Given the description of an element on the screen output the (x, y) to click on. 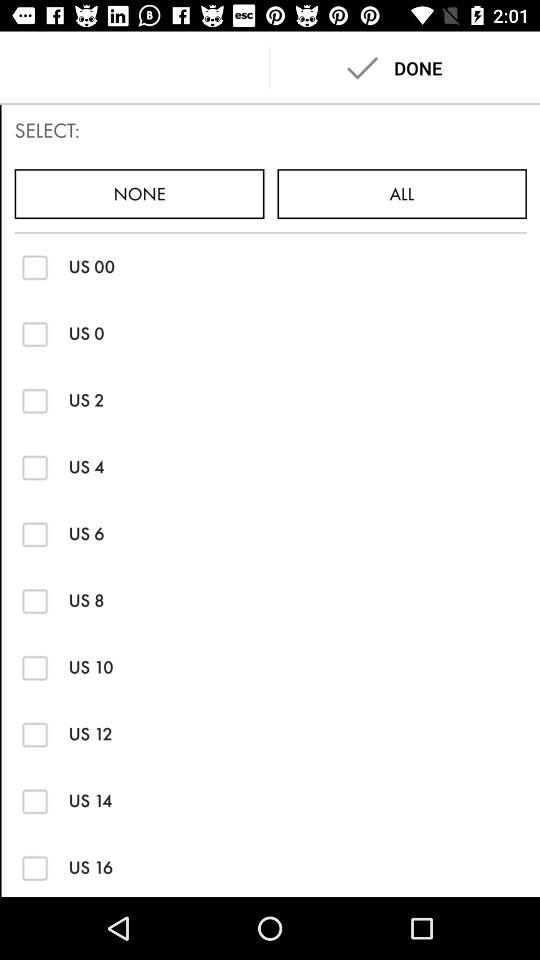
select the button (34, 400)
